Given the description of an element on the screen output the (x, y) to click on. 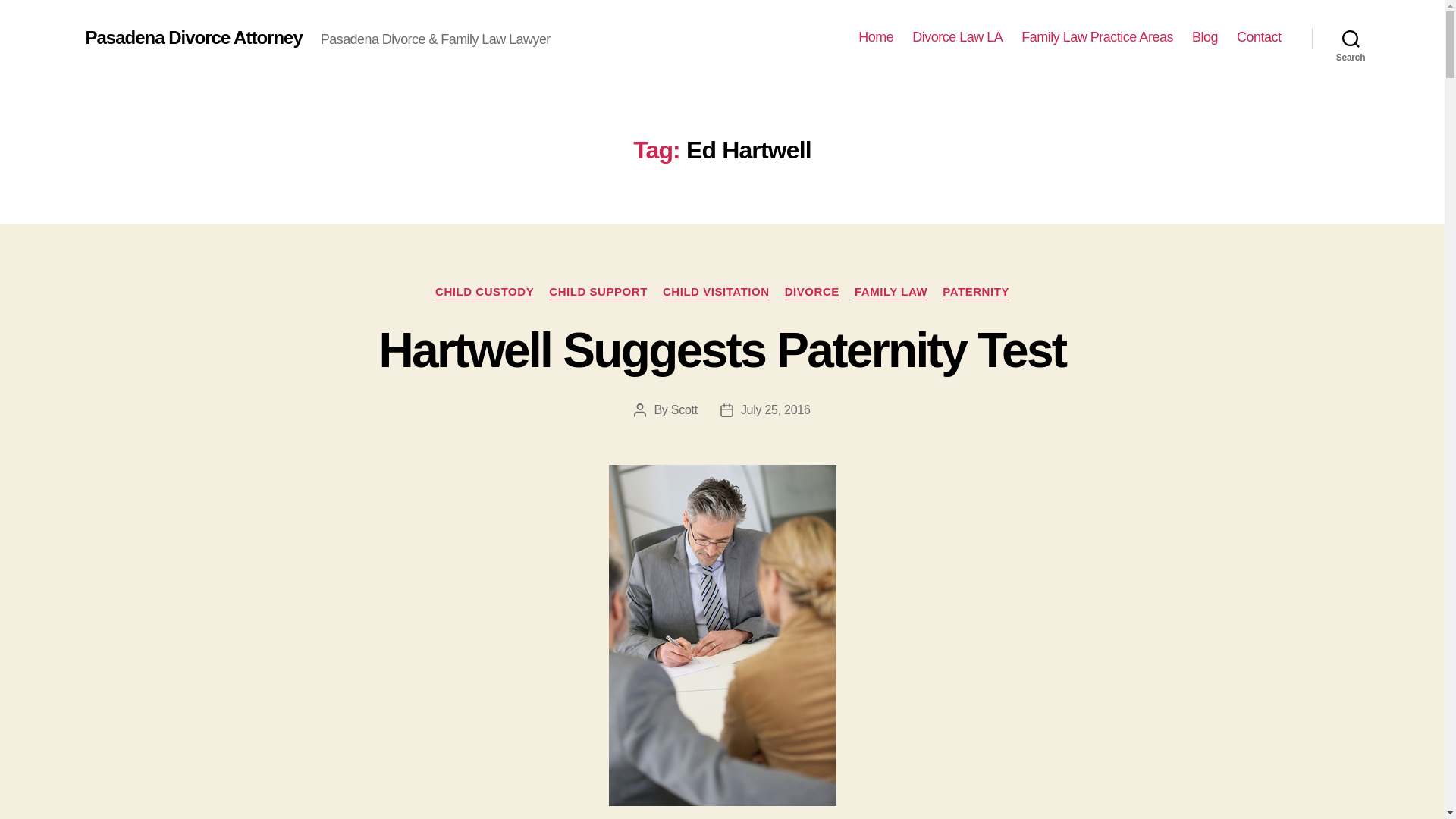
Divorce Law LA (957, 37)
CHILD VISITATION (716, 292)
Contact (1258, 37)
DIVORCE (812, 292)
Blog (1204, 37)
Scott (684, 409)
FAMILY LAW (890, 292)
Search (1350, 37)
July 25, 2016 (775, 409)
Hartwell Suggests Paternity Test (721, 349)
CHILD CUSTODY (484, 292)
Home (876, 37)
Family Law Practice Areas (1097, 37)
PATERNITY (975, 292)
Pasadena Divorce Attorney (192, 37)
